Given the description of an element on the screen output the (x, y) to click on. 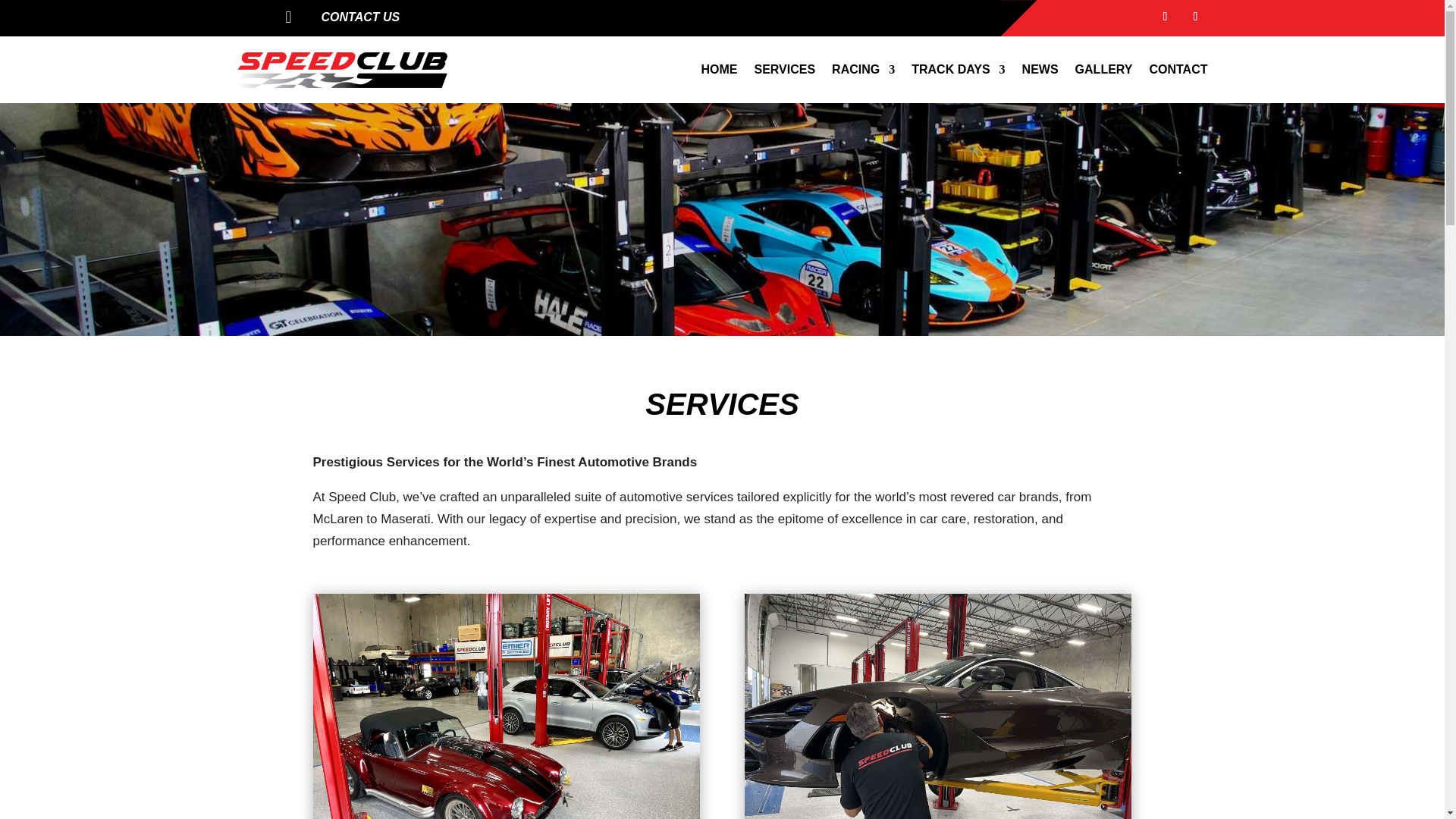
Follow on Instagram (1194, 16)
TRACK DAYS (957, 69)
Follow on Facebook (1164, 16)
McLaren Maintenance at Speed Club (937, 706)
Maintenance Services at Speed Club (505, 706)
CONTACT US (360, 16)
GALLERY (1103, 69)
RACING (863, 69)
CONTACT (1177, 69)
SERVICES (784, 69)
